Given the description of an element on the screen output the (x, y) to click on. 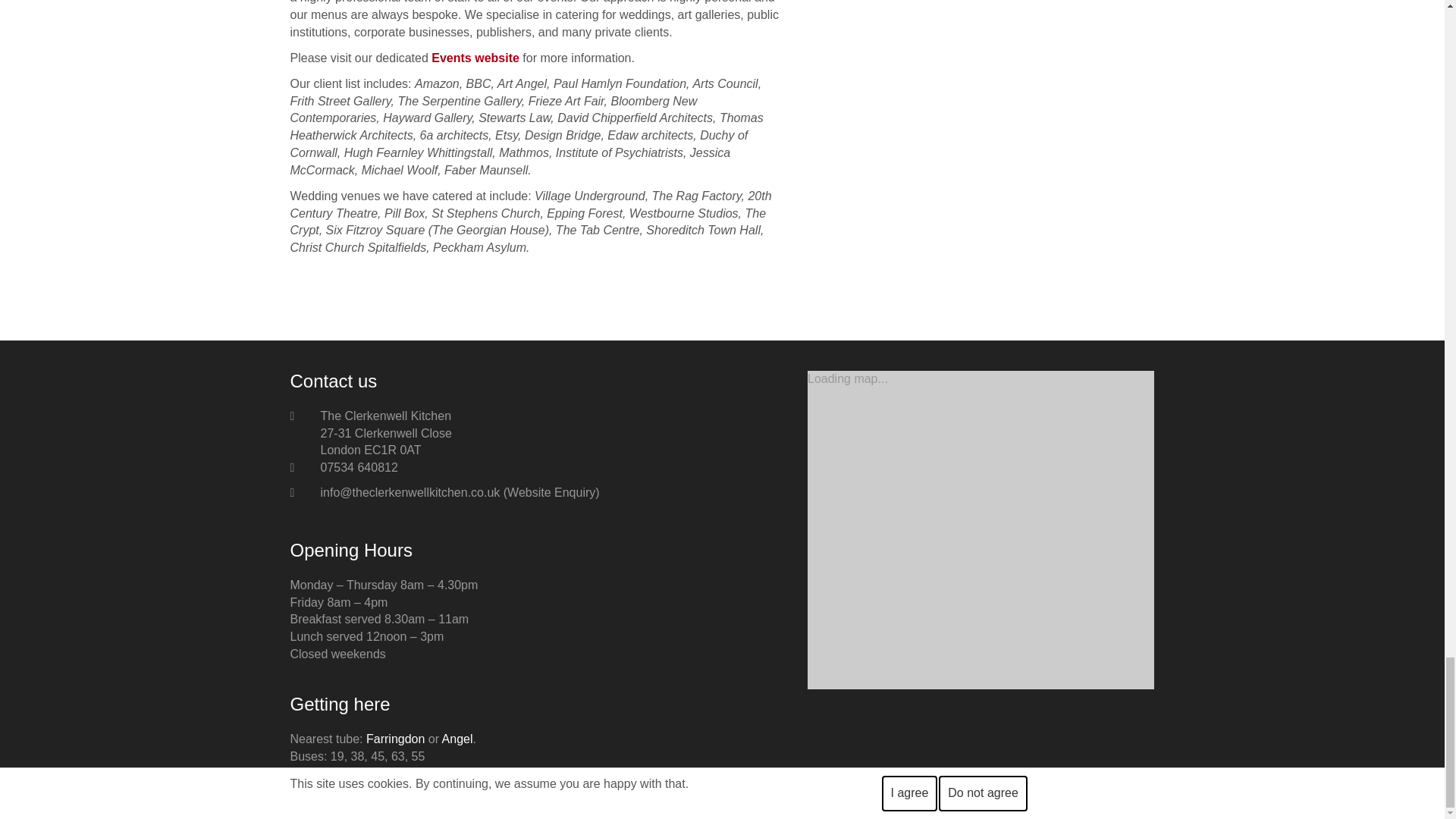
Design (977, 802)
Events website (474, 57)
Angel (457, 738)
Farringdon (395, 738)
